Given the description of an element on the screen output the (x, y) to click on. 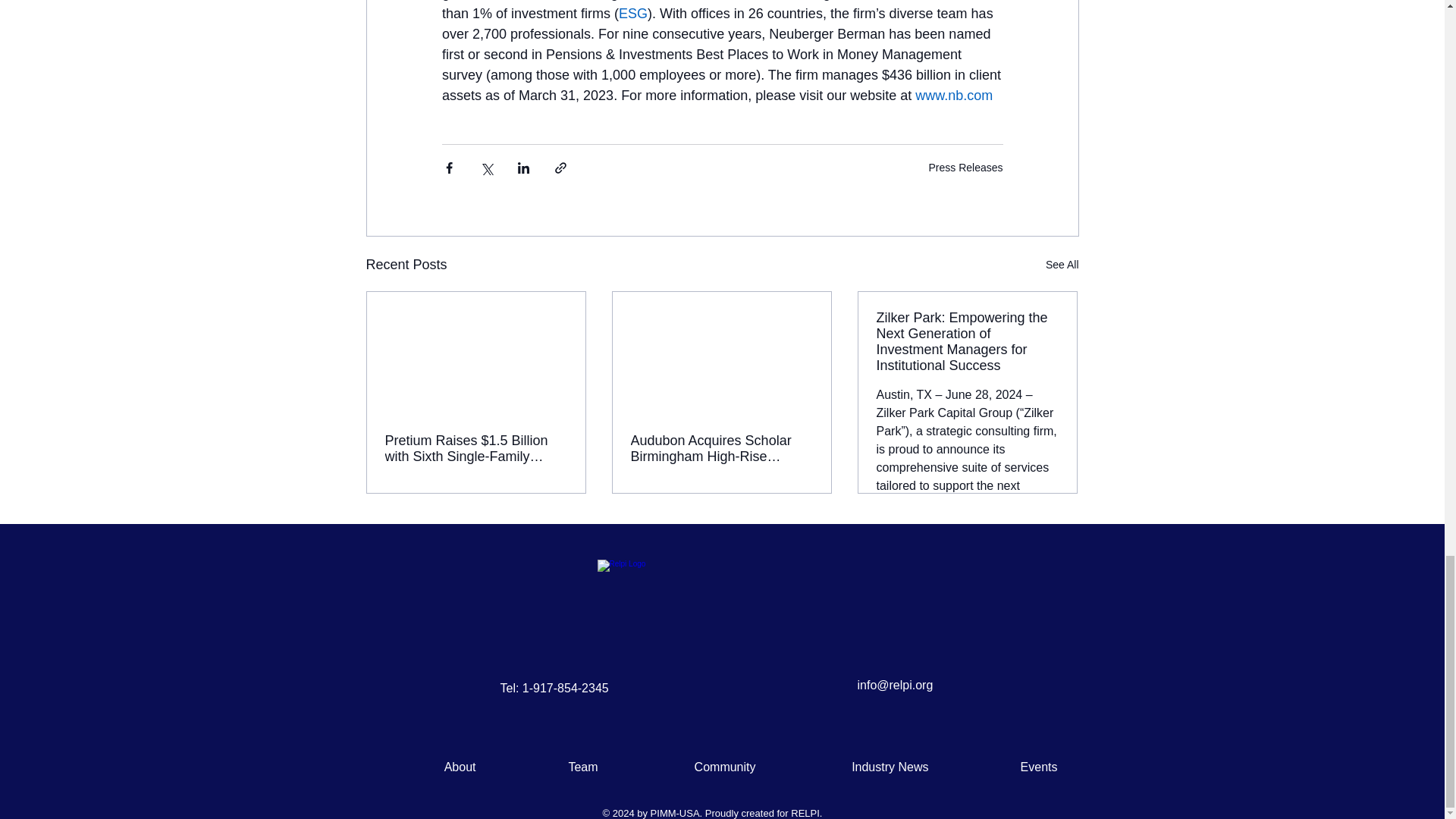
Press Releases (965, 167)
See All (1061, 264)
